Given the description of an element on the screen output the (x, y) to click on. 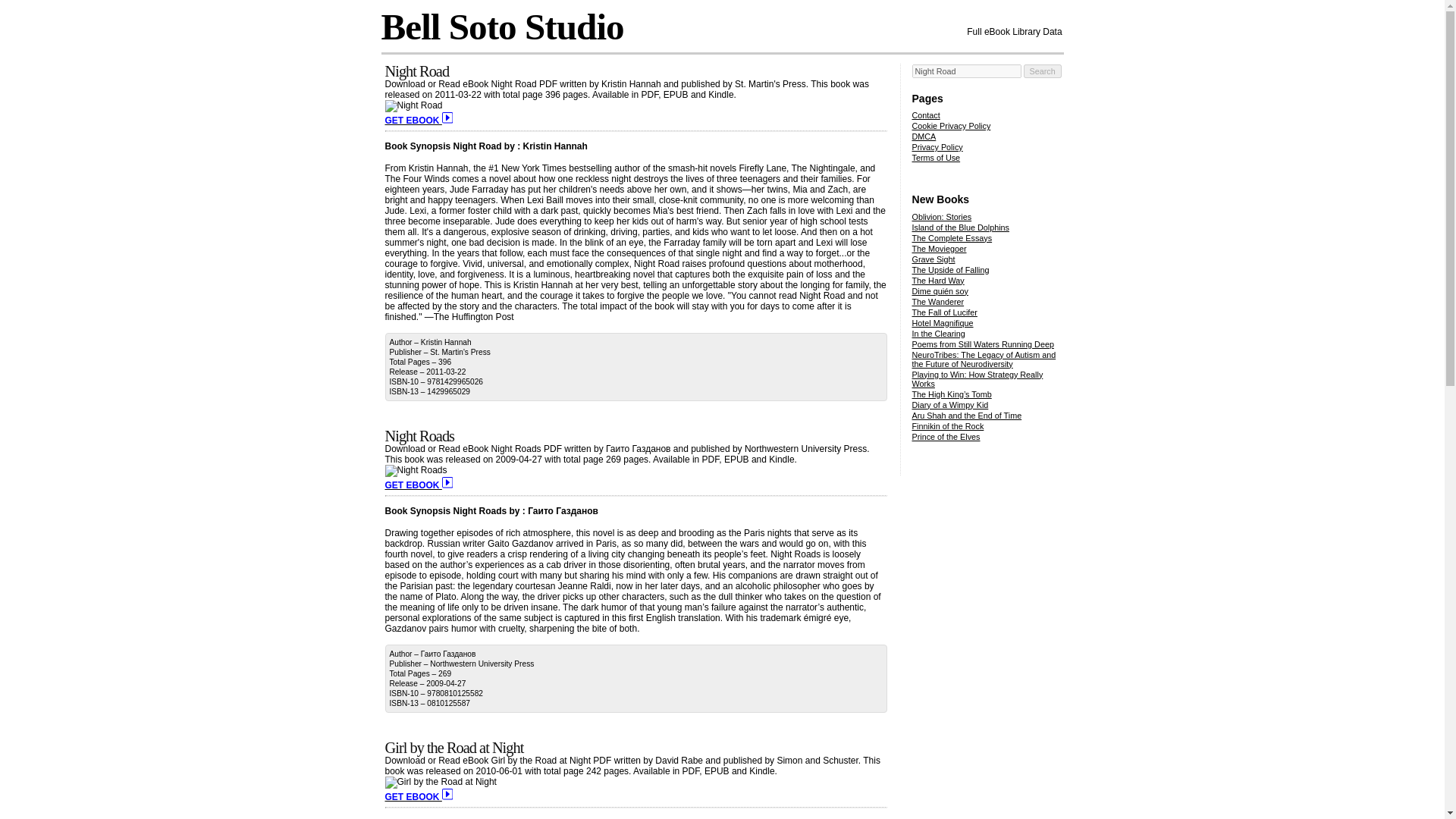
Contact (925, 114)
Search (1042, 70)
Diary of a Wimpy Kid (949, 404)
Search (1042, 70)
Girl by the Road at Night (454, 747)
In the Clearing (937, 333)
Terms of Use (935, 157)
Oblivion: Stories (941, 216)
Grave Sight (933, 258)
The Complete Essays (951, 237)
